Given the description of an element on the screen output the (x, y) to click on. 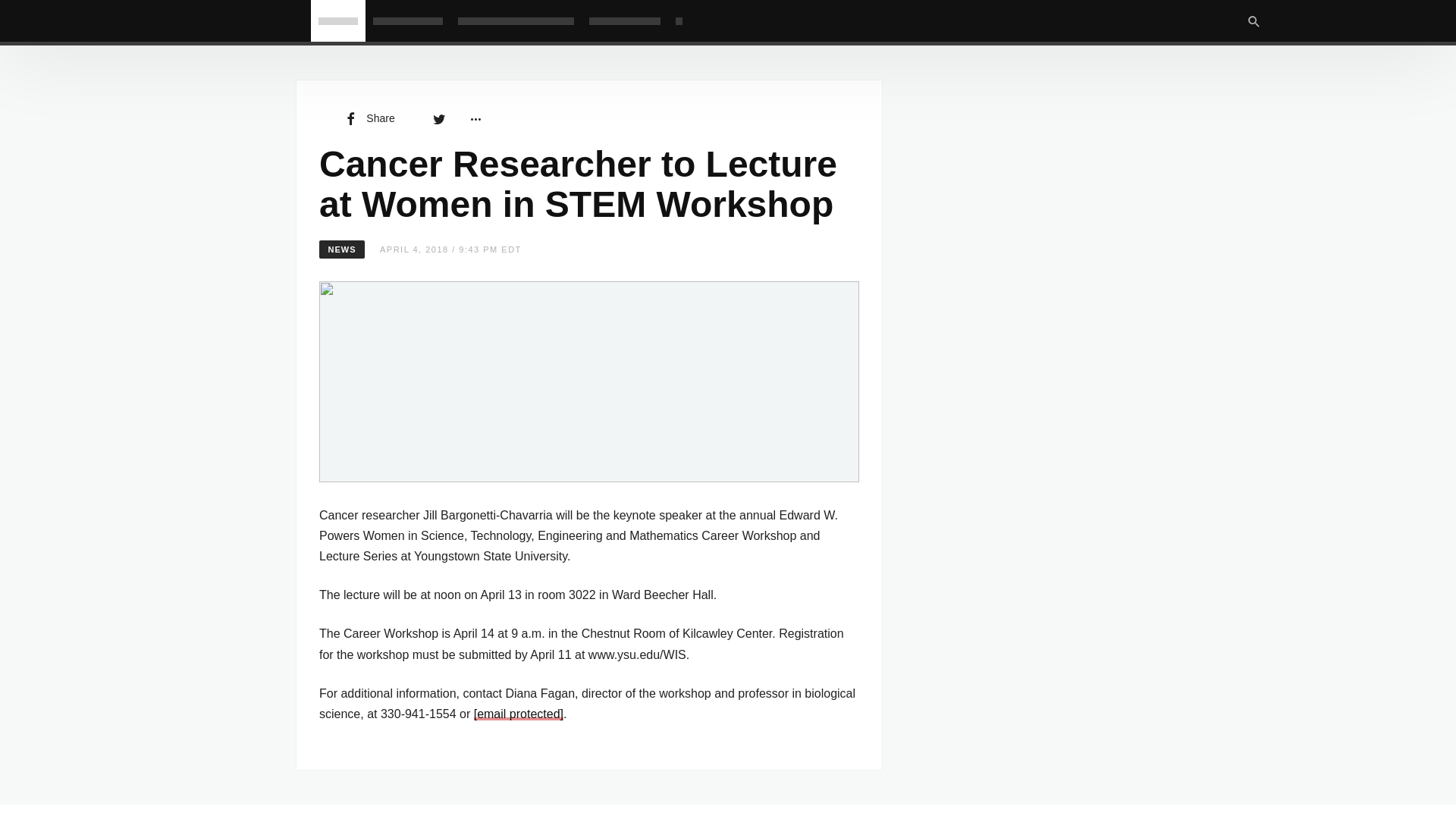
More (475, 118)
Share on Twitter (438, 118)
Share on Facebook (367, 118)
View all posts in News (341, 249)
